Given the description of an element on the screen output the (x, y) to click on. 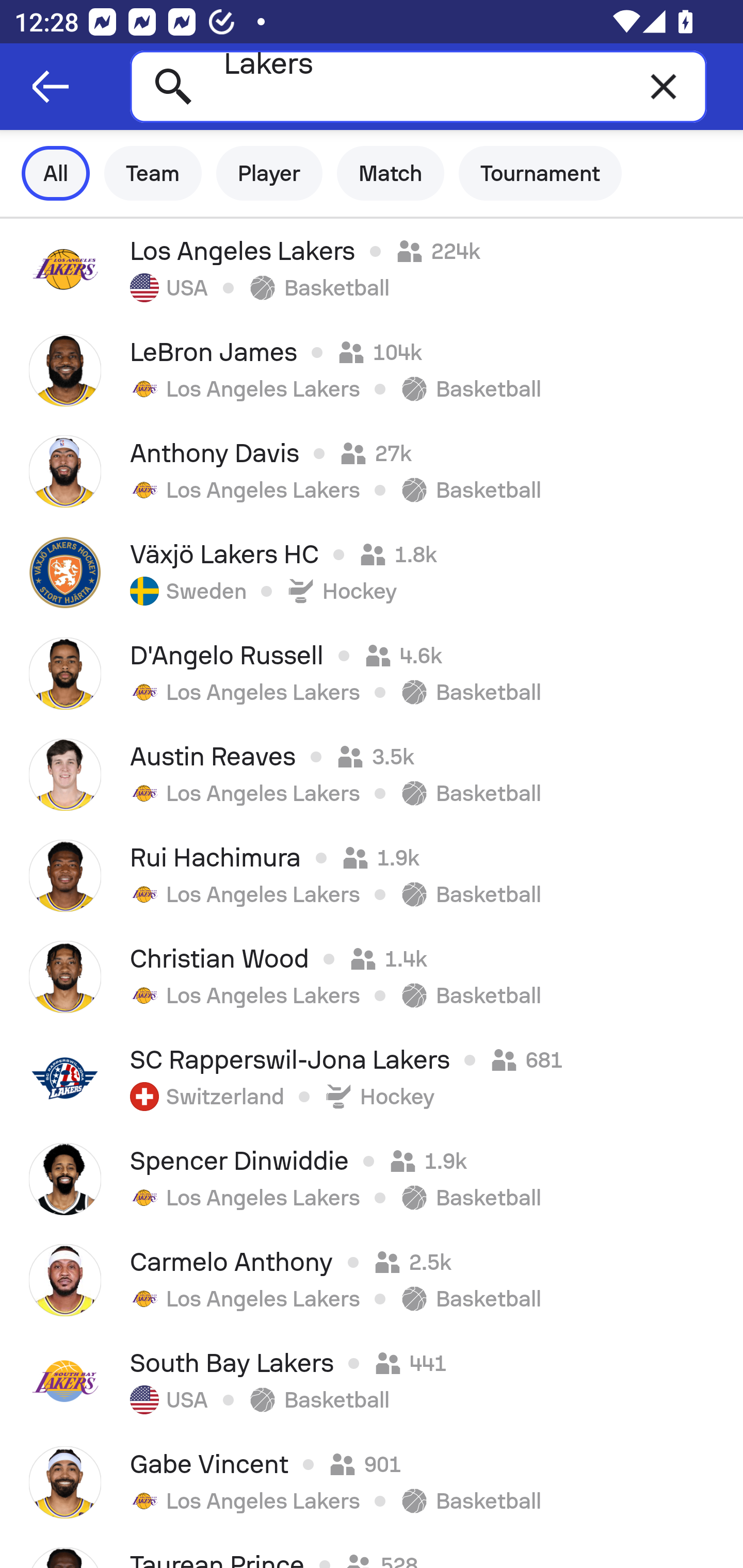
Navigate up (50, 86)
Lakers
 (418, 86)
Clear text (663, 86)
All (55, 172)
Team (152, 172)
Player (268, 172)
Match (390, 172)
Tournament (540, 172)
Los Angeles Lakers 224k USA Basketball (371, 268)
LeBron James 104k Los Angeles Lakers Basketball (371, 369)
Anthony Davis 27k Los Angeles Lakers Basketball (371, 471)
Växjö Lakers HC 1.8k Sweden Hockey (371, 572)
Austin Reaves 3.5k Los Angeles Lakers Basketball (371, 774)
Rui Hachimura 1.9k Los Angeles Lakers Basketball (371, 875)
Christian Wood 1.4k Los Angeles Lakers Basketball (371, 976)
SC Rapperswil-Jona Lakers 681 Switzerland Hockey (371, 1077)
Carmelo Anthony 2.5k Los Angeles Lakers Basketball (371, 1280)
South Bay Lakers 441 USA Basketball (371, 1381)
Gabe Vincent 901 Los Angeles Lakers Basketball (371, 1482)
